Given the description of an element on the screen output the (x, y) to click on. 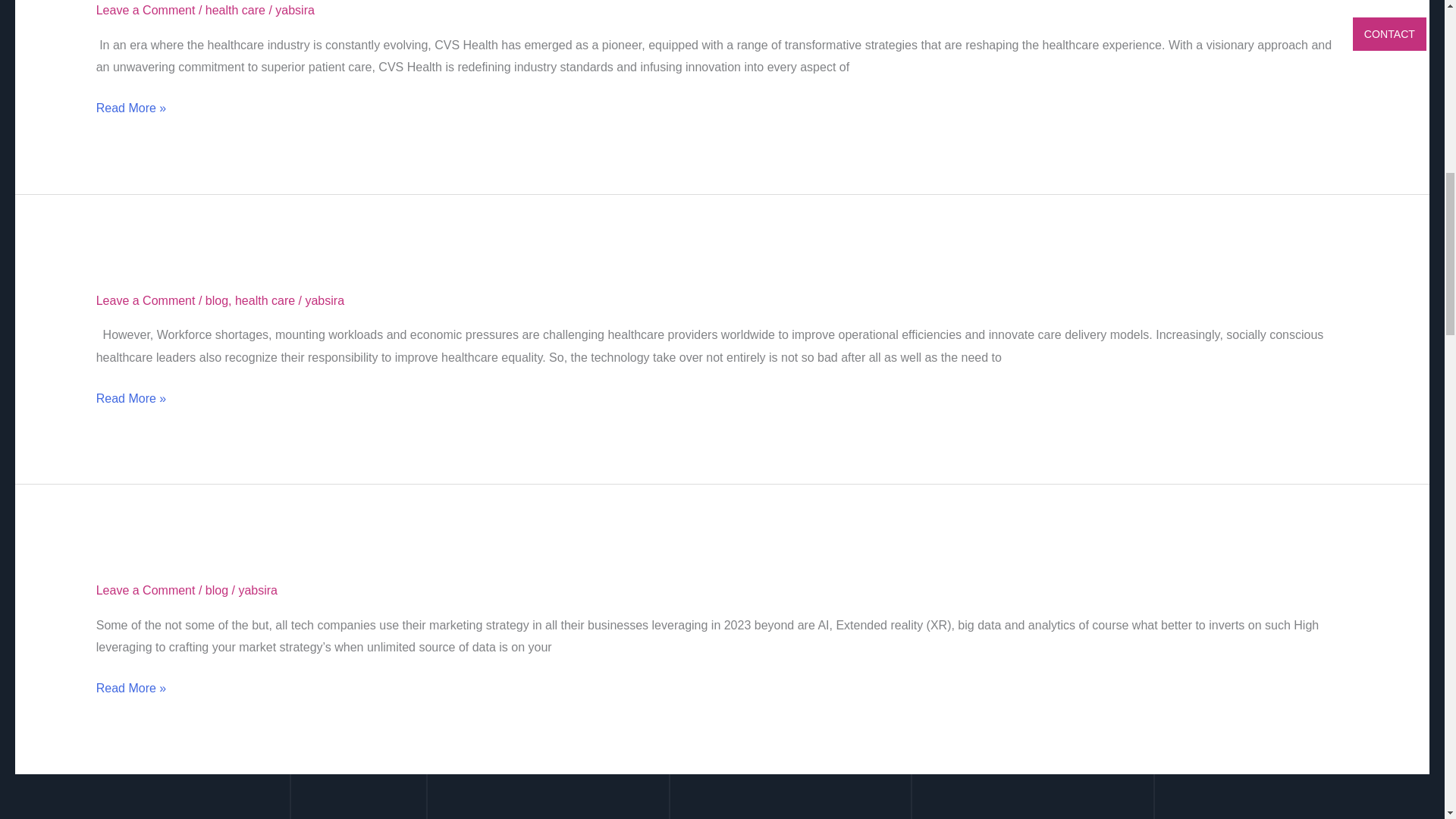
Leave a Comment (145, 10)
Leave a Comment (145, 300)
blog (216, 590)
blog (216, 300)
View all posts by yabsira (258, 590)
View all posts by yabsira (323, 300)
Transformation technology Trends In Healthcare (324, 273)
health care (264, 300)
Leave a Comment (145, 590)
yabsira (258, 590)
View all posts by yabsira (294, 10)
yabsira (323, 300)
yabsira (294, 10)
health care (234, 10)
